Given the description of an element on the screen output the (x, y) to click on. 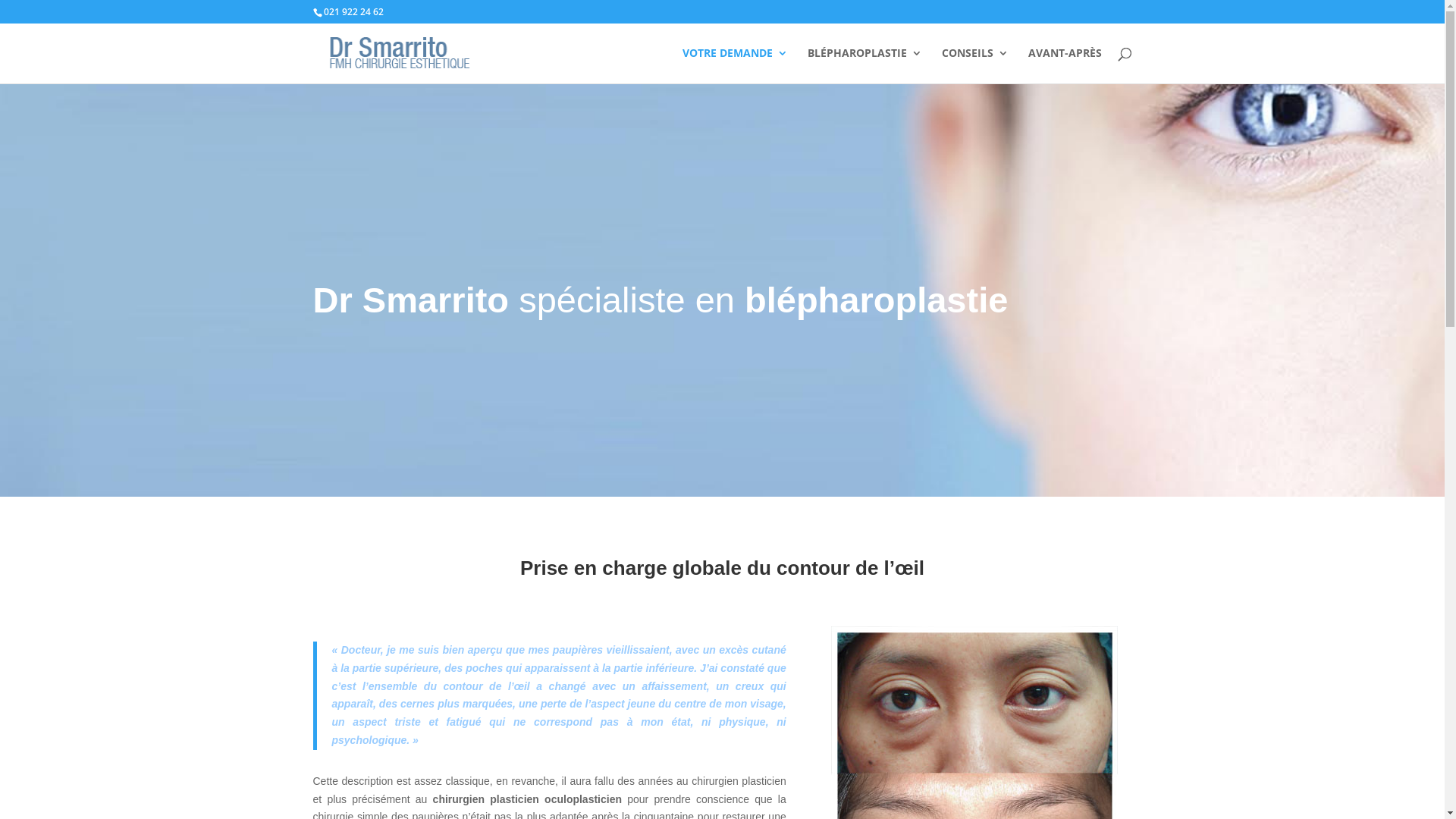
CONSEILS Element type: text (974, 65)
VOTRE DEMANDE Element type: text (734, 65)
